Given the description of an element on the screen output the (x, y) to click on. 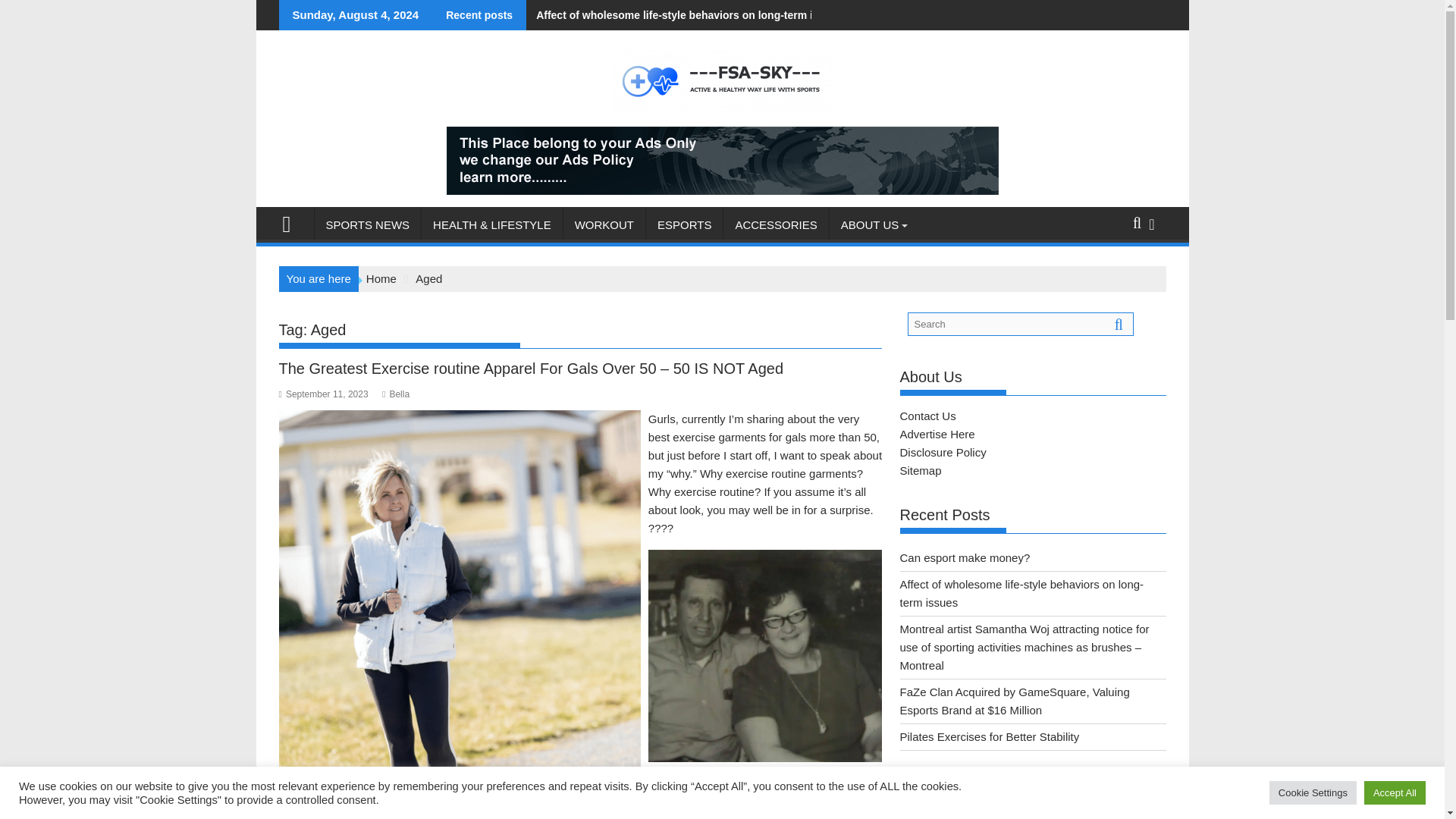
ESPORTS (684, 225)
September 11, 2023 (323, 394)
WORKOUT (604, 225)
ACCESSORIES (775, 225)
FSA-SKY (293, 222)
Bella (395, 394)
Affect of wholesome life-style behaviors on long-term issues (684, 15)
SPORTS NEWS (367, 225)
ABOUT US (869, 225)
Affect of wholesome life-style behaviors on long-term issues (684, 15)
Home (381, 278)
